Given the description of an element on the screen output the (x, y) to click on. 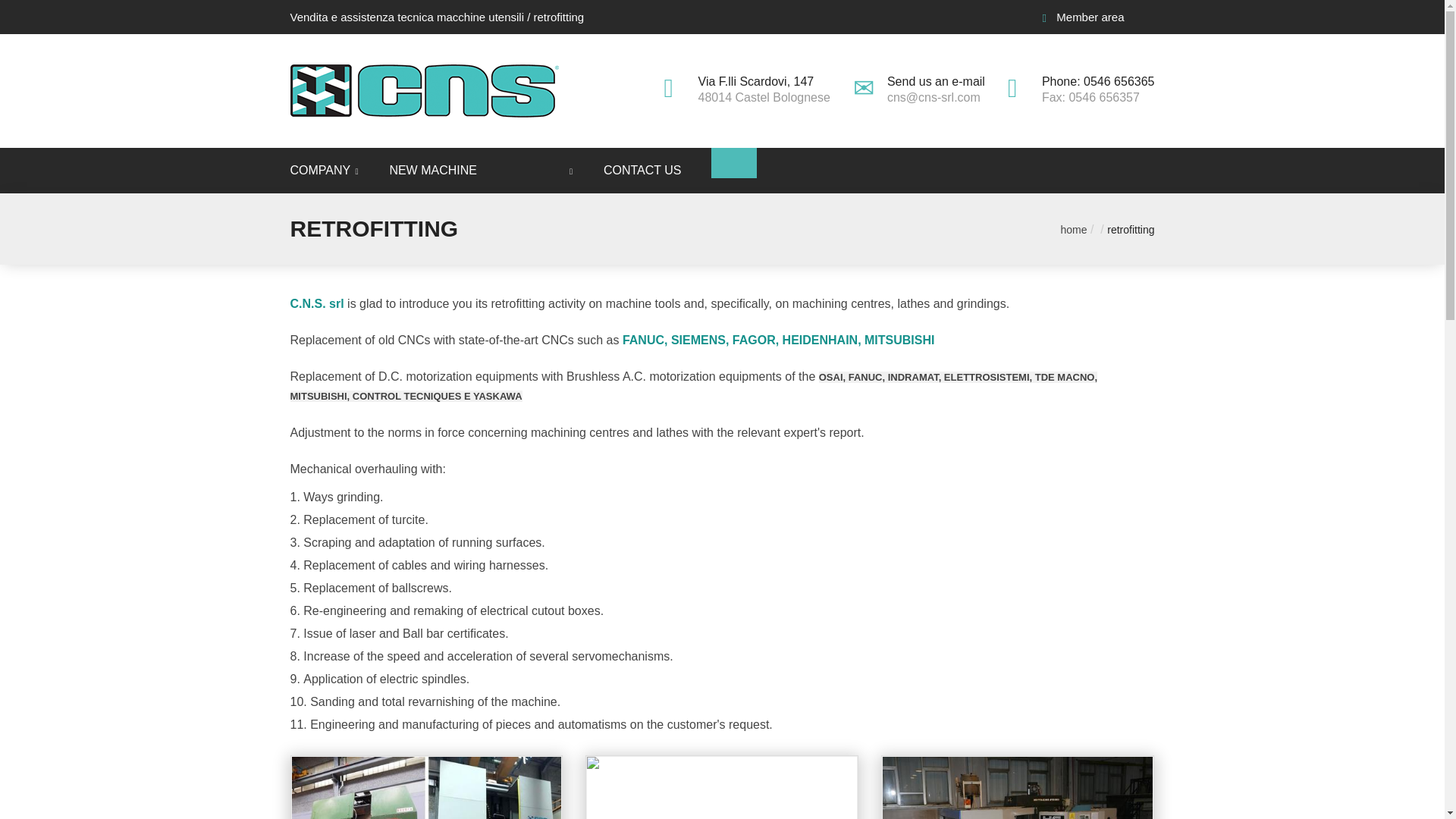
home (1074, 229)
Retrofitting (1130, 229)
Homepage (425, 90)
Via F.lli Scardovi, 147 (755, 81)
CONTACT US (642, 170)
COMPANY (327, 170)
  Member area (1083, 17)
NEW MACHINE (432, 170)
